Given the description of an element on the screen output the (x, y) to click on. 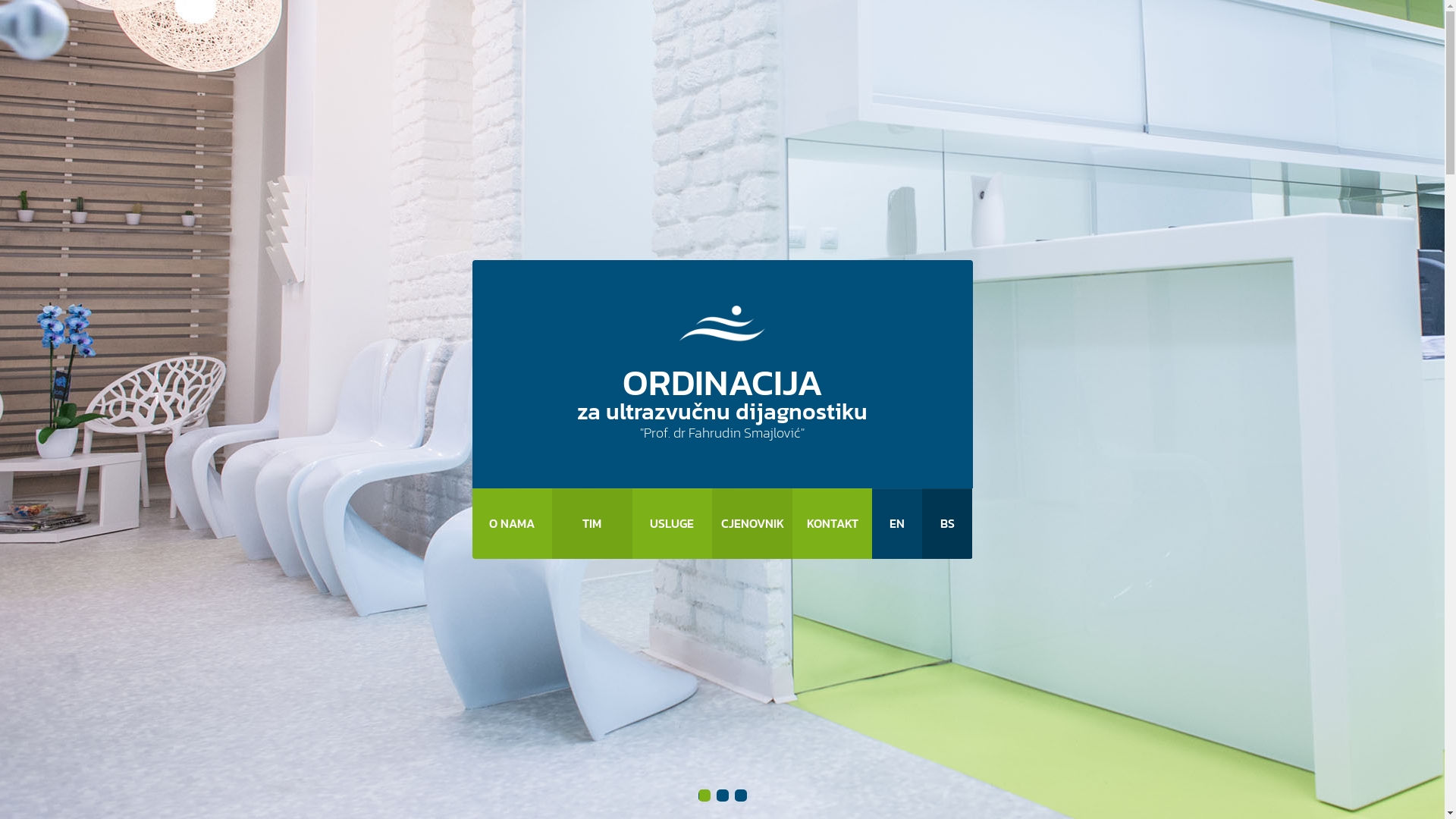
3 Element type: text (740, 795)
O NAMA Element type: text (511, 523)
1 Element type: text (703, 795)
BS Element type: text (947, 523)
CJENOVNIK Element type: text (752, 523)
TIM Element type: text (592, 523)
USLUGE Element type: text (672, 523)
2 Element type: text (721, 795)
EN Element type: text (897, 523)
KONTAKT Element type: text (832, 523)
